Given the description of an element on the screen output the (x, y) to click on. 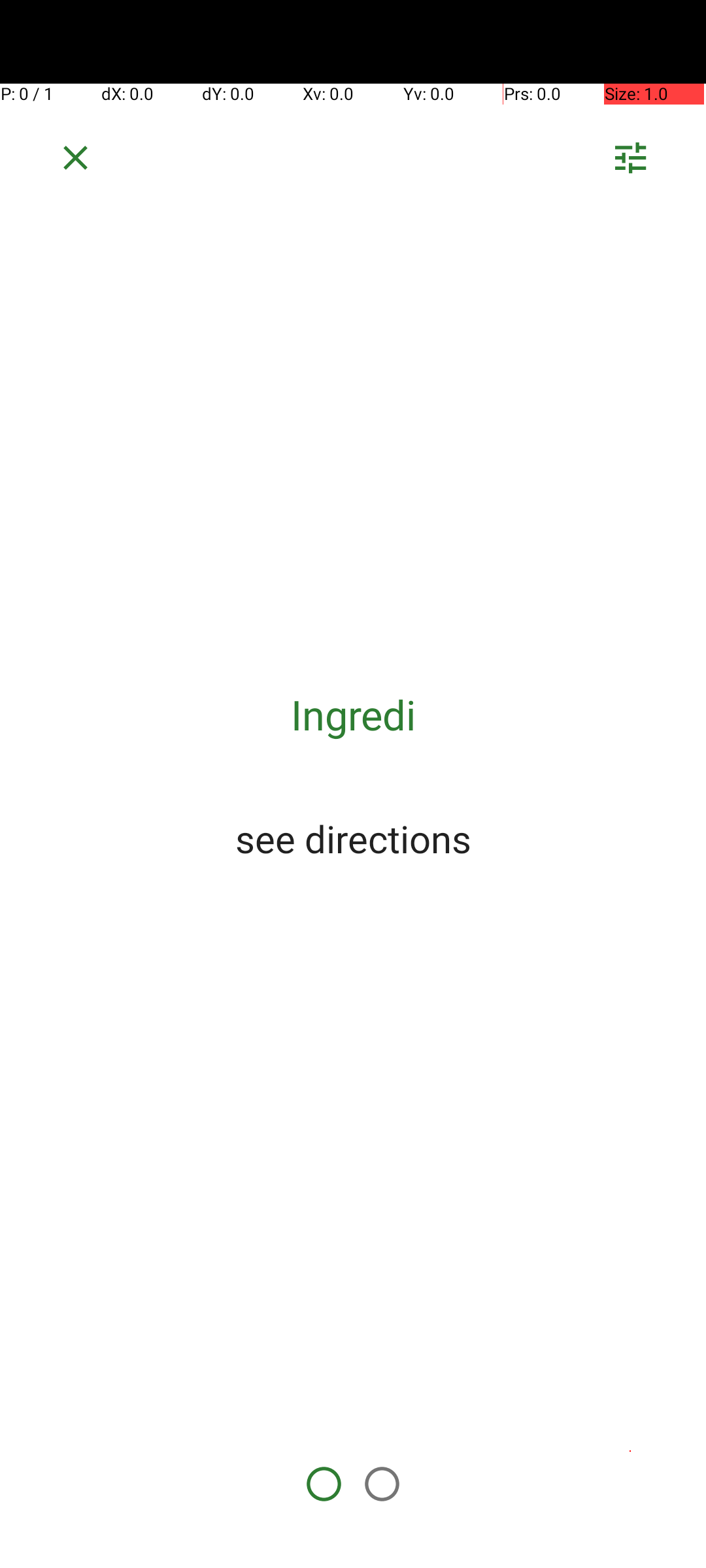
Adjust ingredients Element type: android.widget.Button (630, 161)
Ingredients Element type: android.widget.TextView (352, 714)
see directions Element type: android.widget.TextView (352, 838)
